Given the description of an element on the screen output the (x, y) to click on. 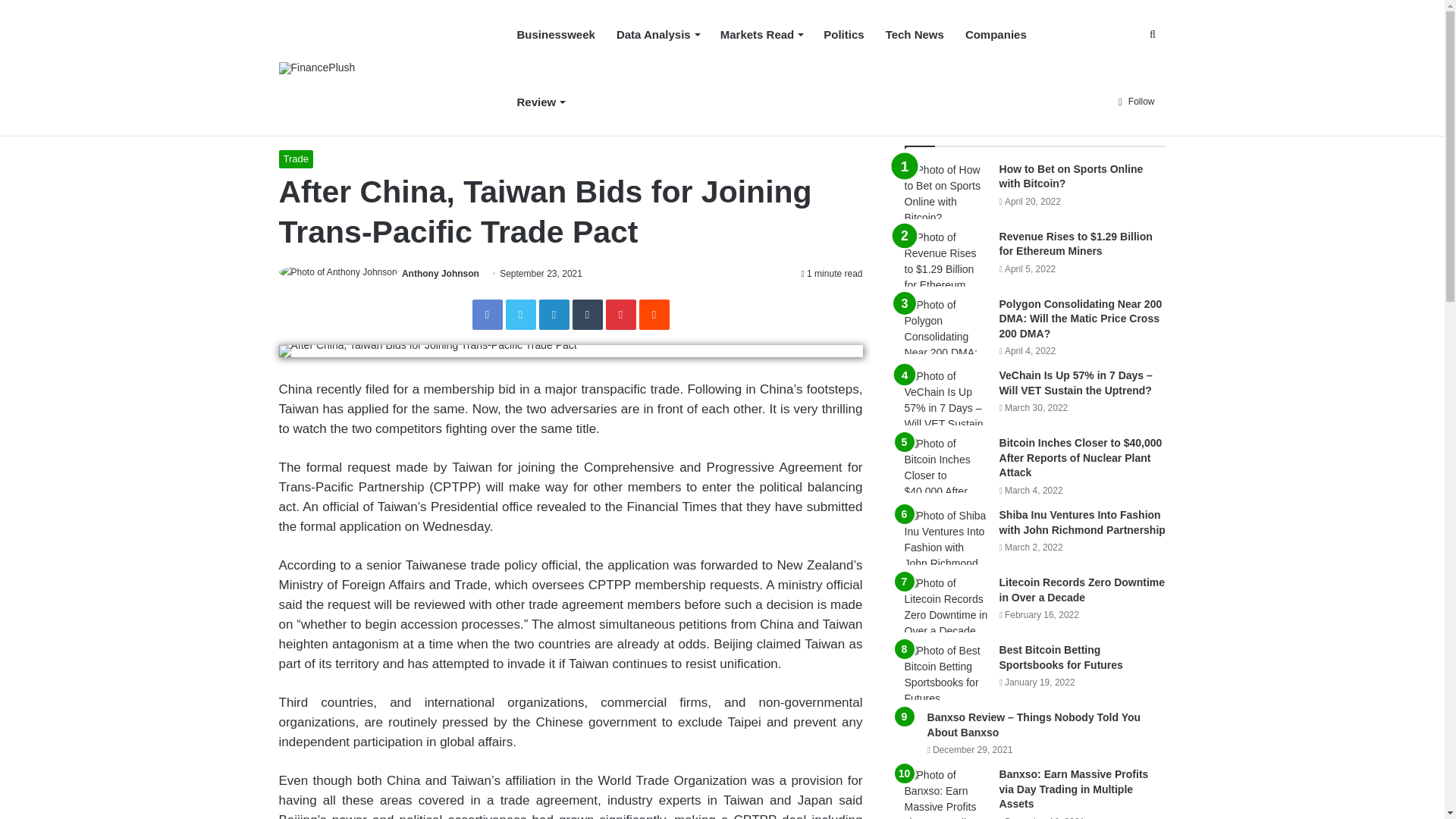
FinancePlush (317, 68)
Know the Plush (751, 81)
Markets Read (761, 33)
Connect with Us (901, 81)
LinkedIn (553, 314)
Editorial Policy (989, 81)
Advertise (826, 81)
How to Bet on Sports Online with Bitcoin? (470, 81)
Pinterest (619, 314)
Anthony Johnson (440, 273)
